Given the description of an element on the screen output the (x, y) to click on. 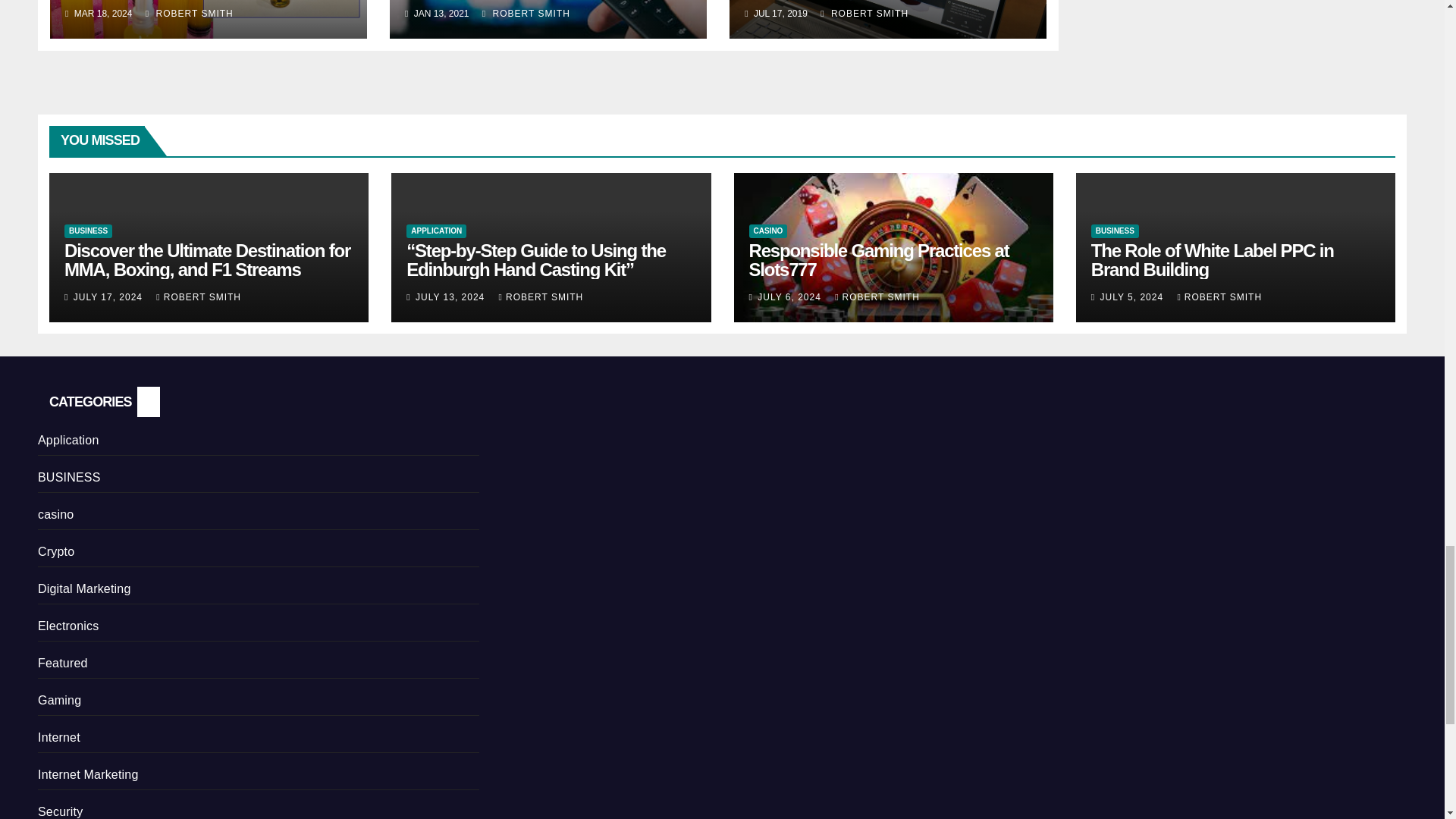
ROBERT SMITH (525, 13)
ROBERT SMITH (864, 13)
Permalink to: Responsible Gaming Practices at Slots777 (879, 260)
Permalink to: The Role of White Label PPC in Brand Building (1211, 260)
ROBERT SMITH (188, 13)
